Given the description of an element on the screen output the (x, y) to click on. 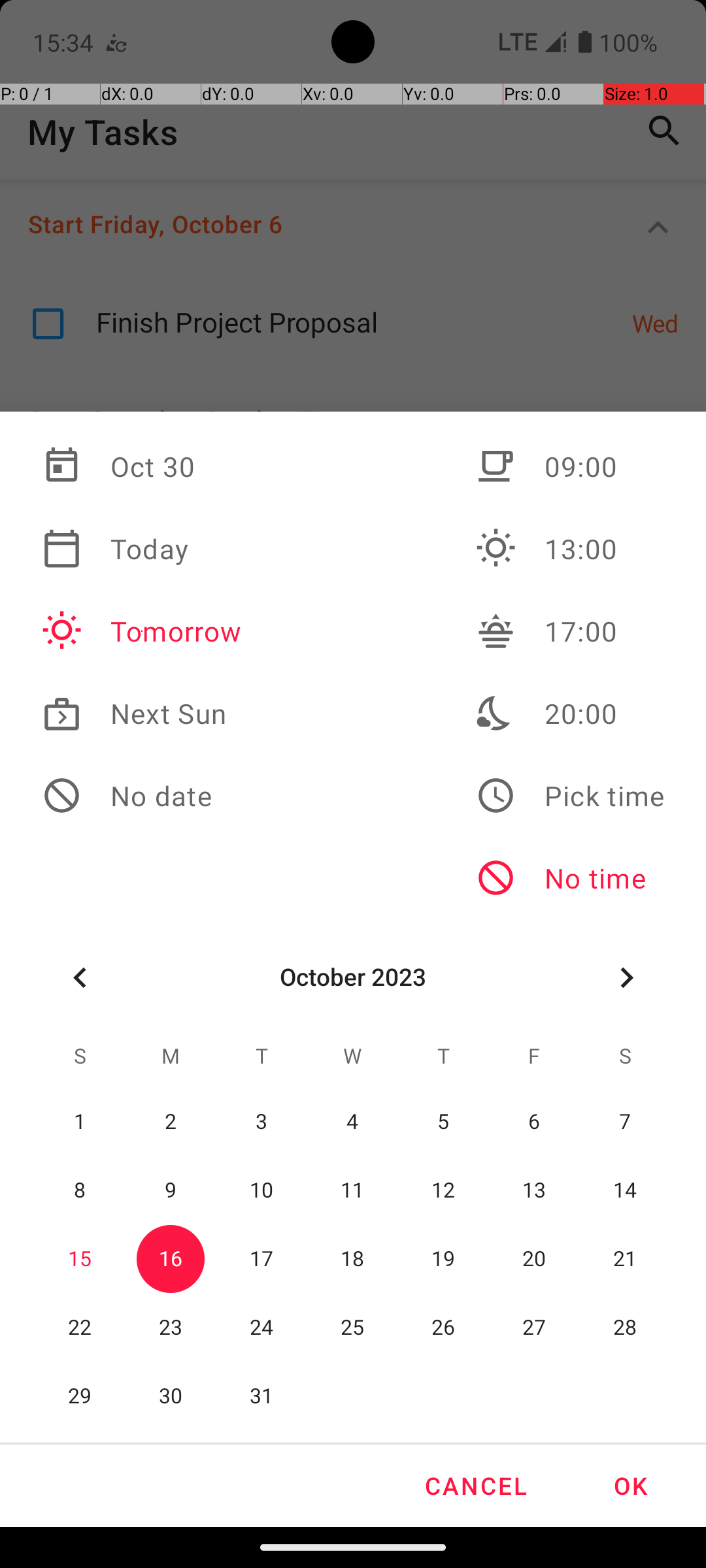
Oct 30 Element type: android.widget.CompoundButton (141, 466)
